Given the description of an element on the screen output the (x, y) to click on. 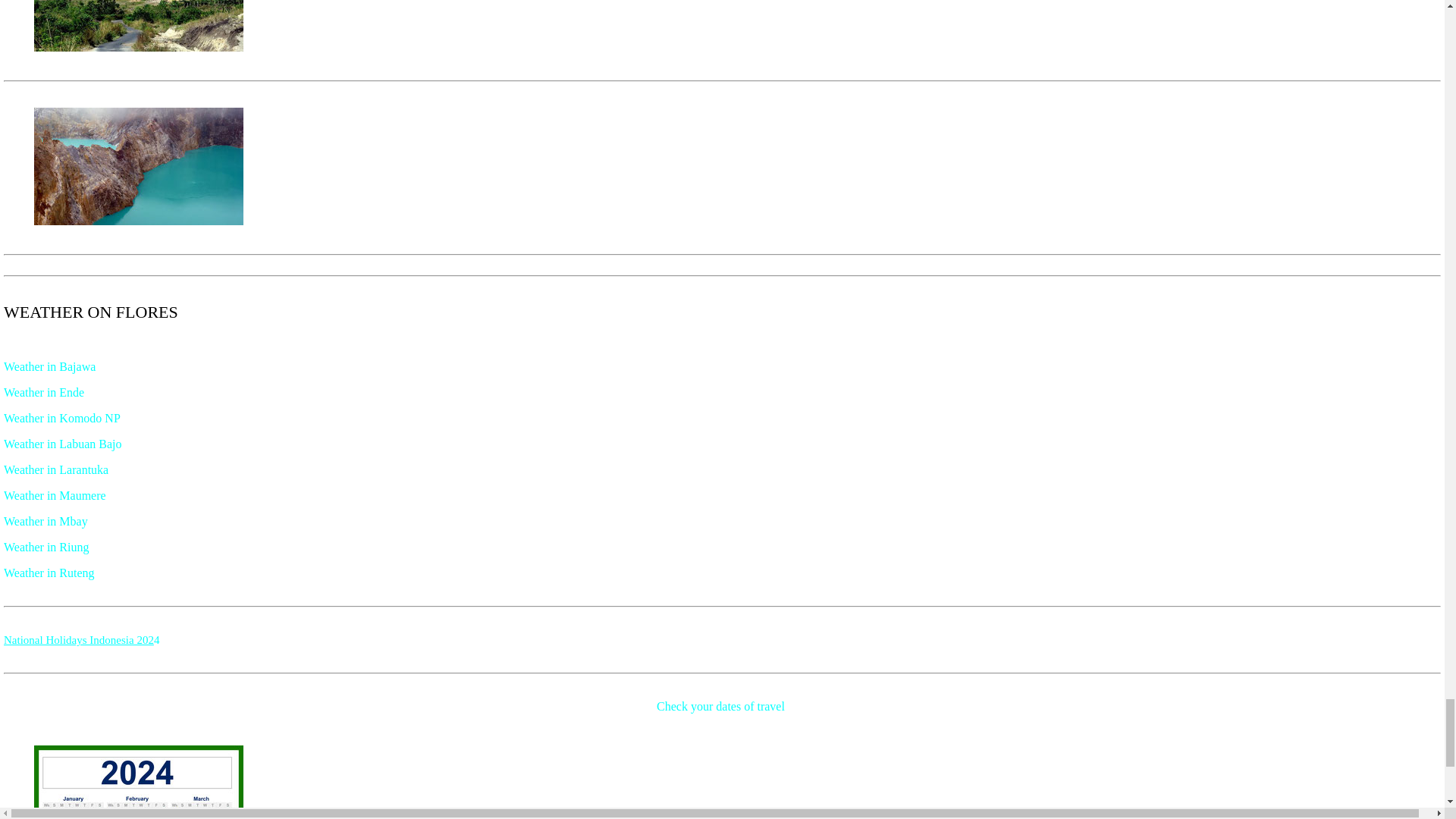
PLANNING (79, 639)
